Given the description of an element on the screen output the (x, y) to click on. 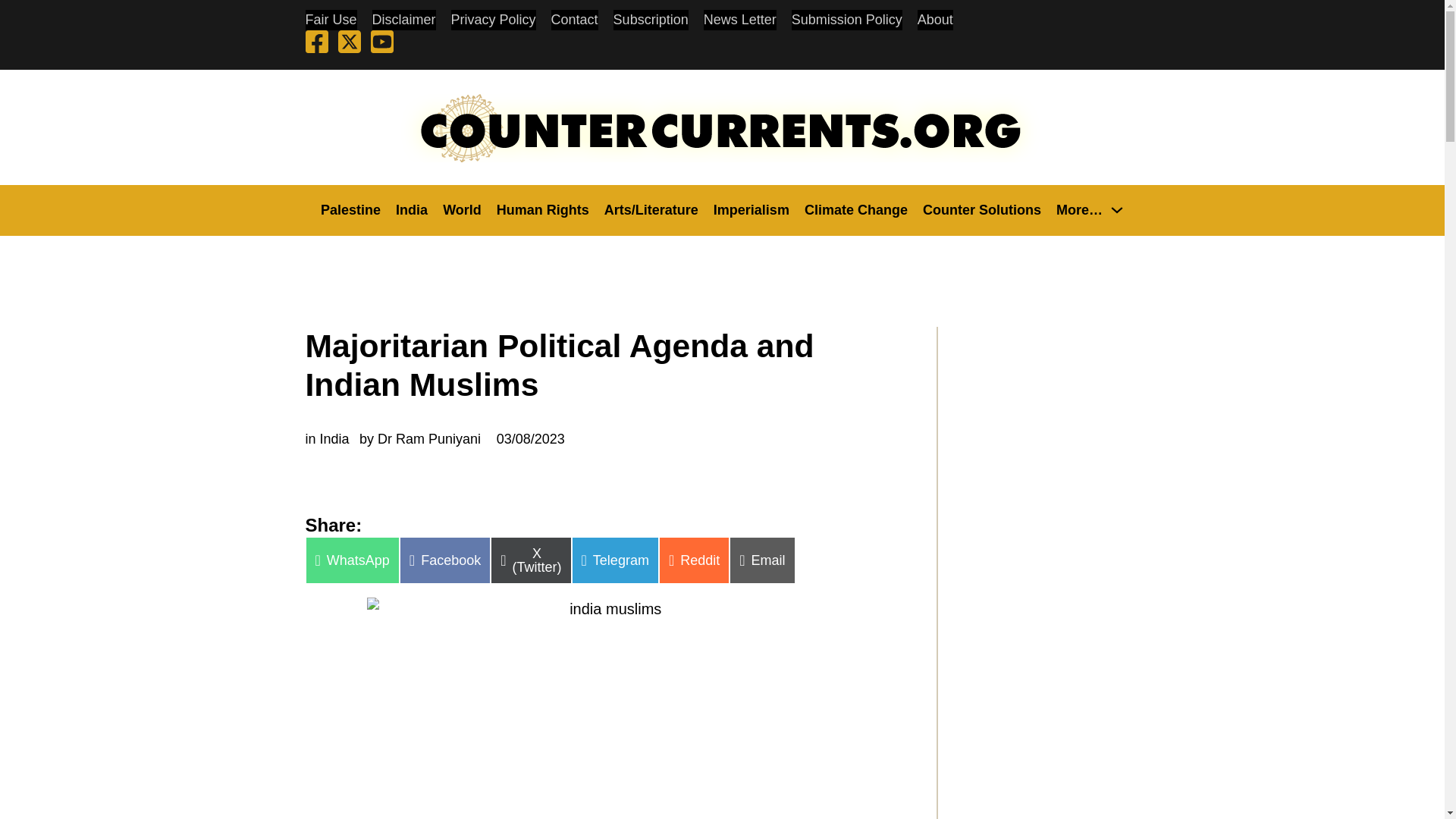
Counter Solutions (982, 209)
Disclaimer (403, 19)
Subscription (650, 19)
Privacy Policy (493, 19)
Submission Policy (847, 19)
India (412, 209)
Majoritarian Political Agenda and Indian Muslims 2 (608, 708)
About (935, 19)
Imperialism (751, 209)
Climate Change (856, 209)
